Given the description of an element on the screen output the (x, y) to click on. 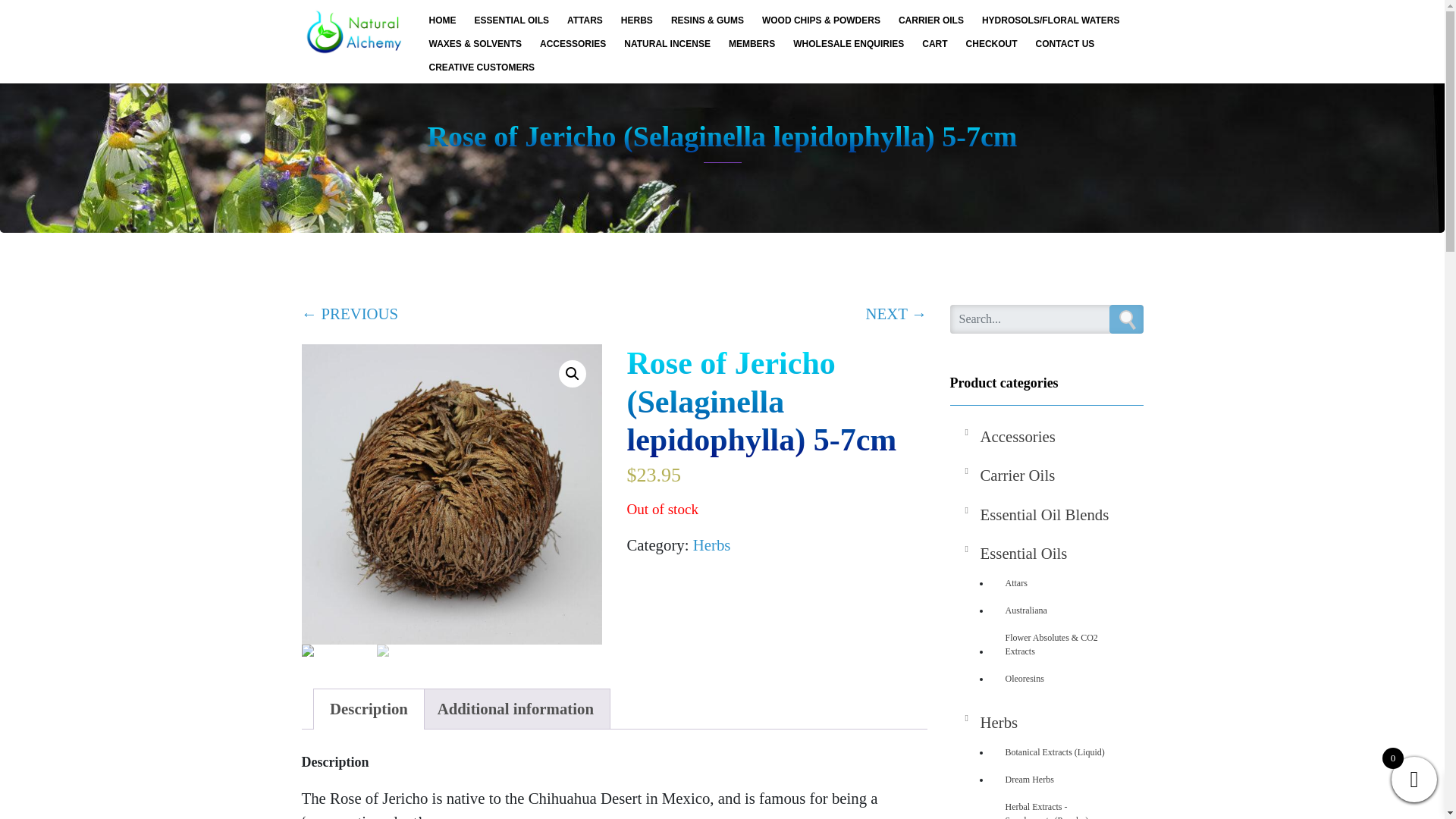
Herbs (711, 544)
Search for: (1045, 318)
ESSENTIAL OILS (511, 20)
Additional information (516, 708)
NATURAL INCENSE (666, 43)
CHECKOUT (991, 43)
CART (934, 43)
MEMBERS (751, 43)
CONTACT US (1064, 43)
Description (368, 708)
rose-of-jericho (451, 493)
WHOLESALE ENQUIRIES (848, 43)
CREATIVE CUSTOMERS (482, 67)
ACCESSORIES (572, 43)
HOME (442, 20)
